Given the description of an element on the screen output the (x, y) to click on. 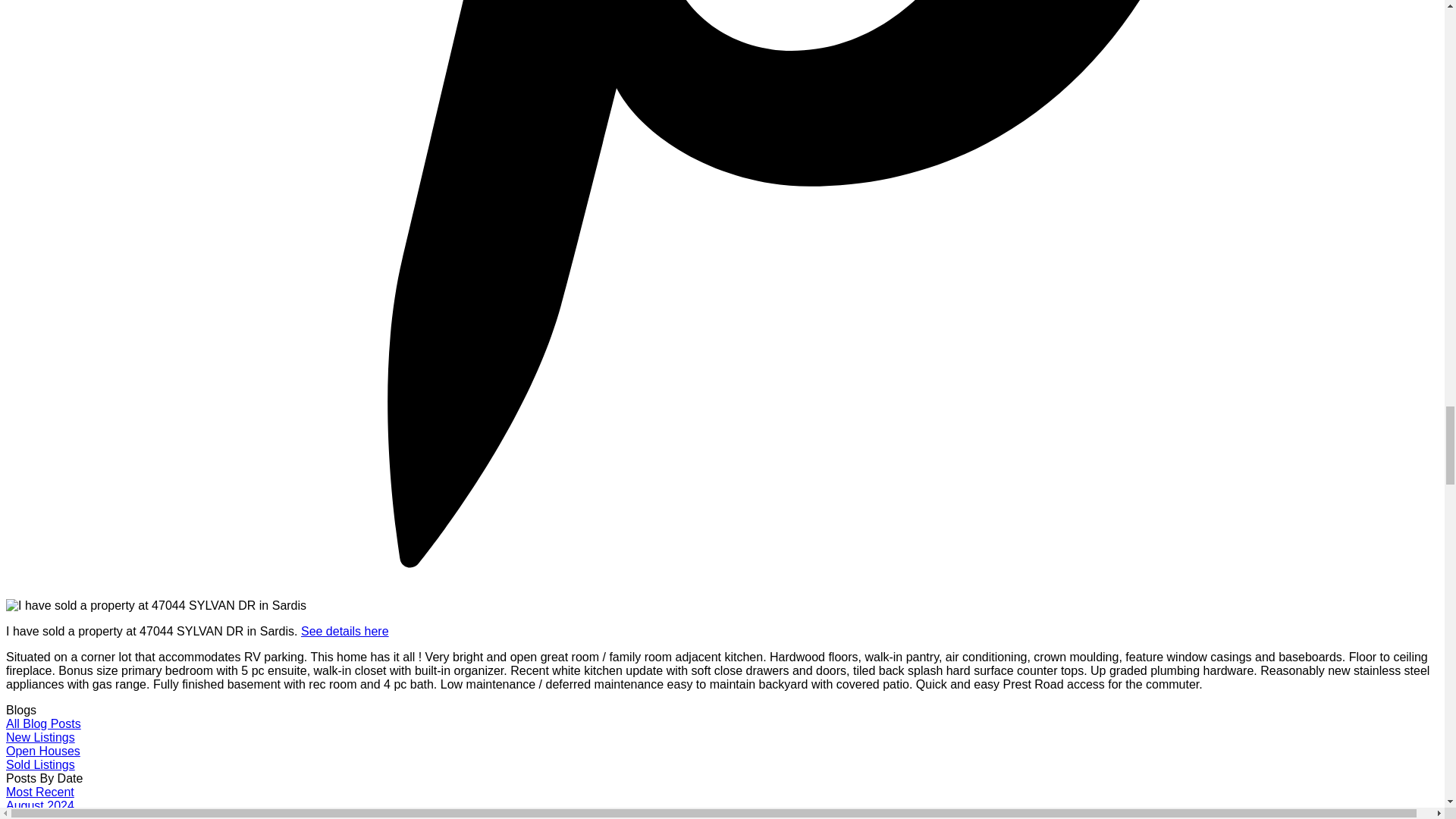
All Blog Posts (43, 723)
See details here (344, 631)
New Listings (40, 737)
